Given the description of an element on the screen output the (x, y) to click on. 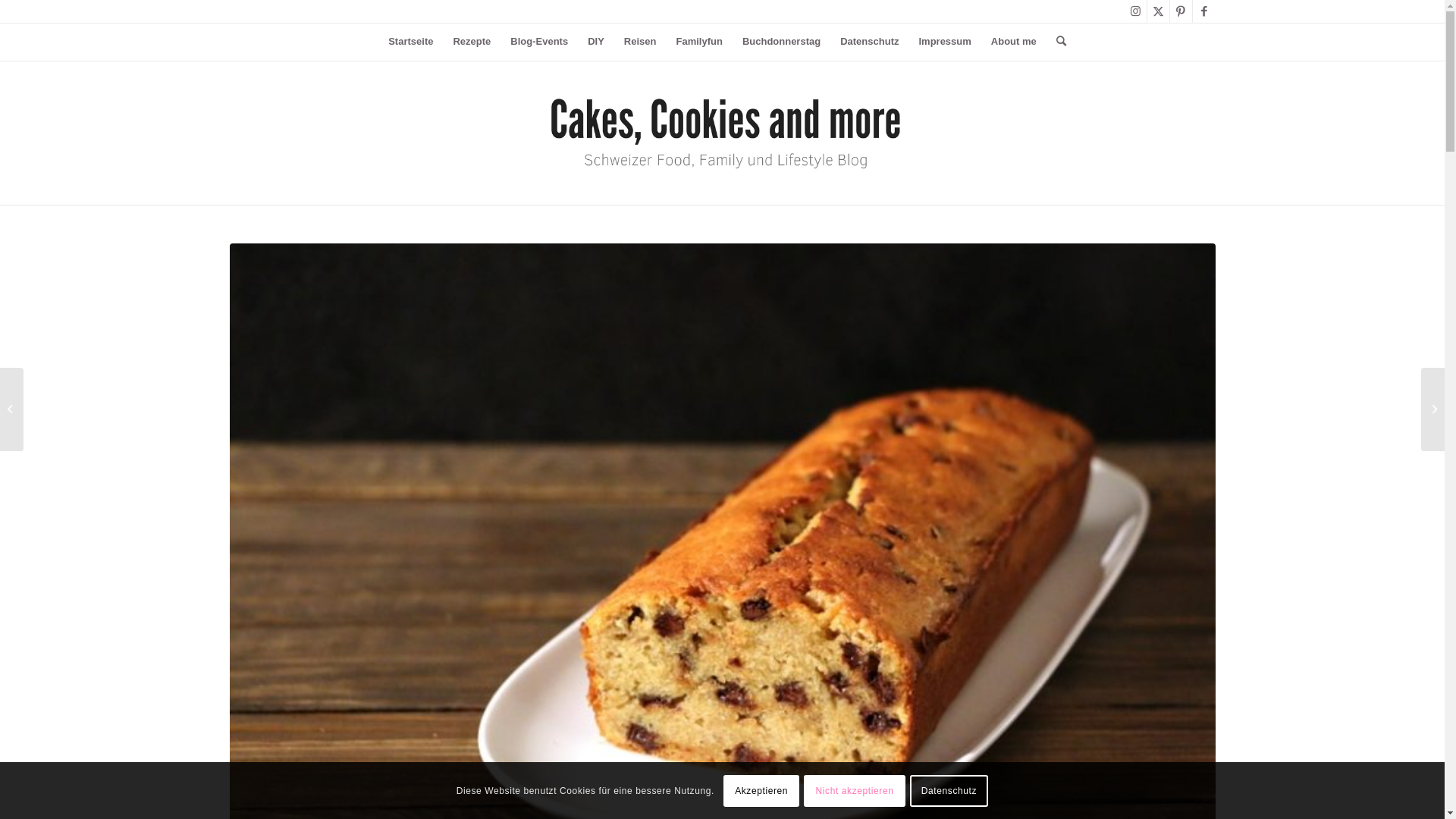
Startseite Element type: text (410, 41)
Blog-Events Element type: text (538, 41)
katherineschmidt Element type: hover (721, 132)
Facebook Element type: hover (1203, 11)
DIY Element type: text (595, 41)
Instagram Element type: hover (1134, 11)
Akzeptieren Element type: text (761, 790)
Twitter Element type: hover (1157, 11)
Pinterest Element type: hover (1180, 11)
Reisen Element type: text (640, 41)
About me Element type: text (1013, 41)
Nicht akzeptieren Element type: text (853, 790)
Rezepte Element type: text (471, 41)
Datenschutz Element type: text (869, 41)
Impressum Element type: text (944, 41)
Buchdonnerstag Element type: text (781, 41)
Datenschutz Element type: text (949, 790)
Familyfun Element type: text (698, 41)
